Given the description of an element on the screen output the (x, y) to click on. 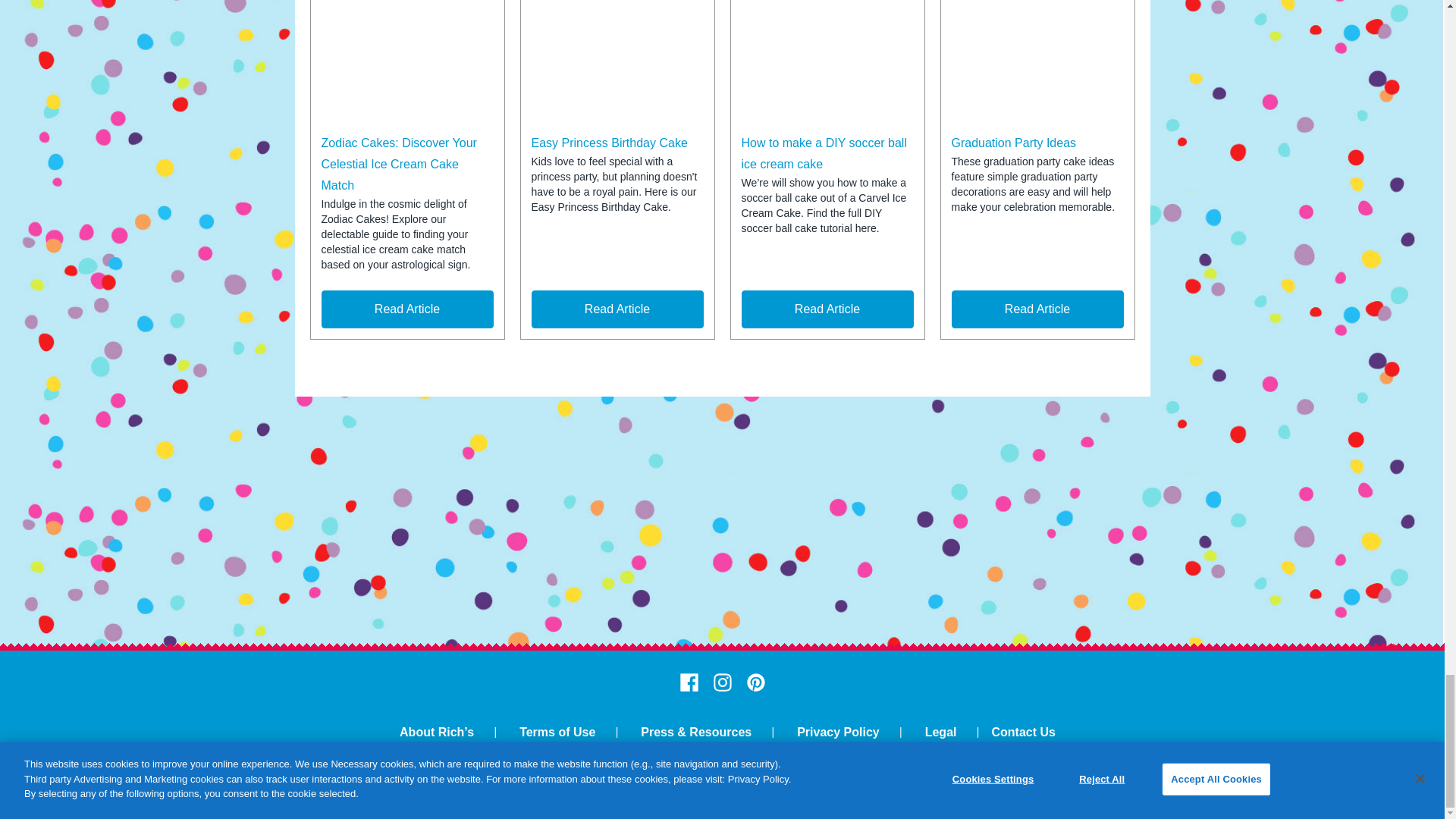
Read Article (1036, 309)
Read Article (407, 309)
Read Article (617, 309)
Read Article (827, 309)
